Given the description of an element on the screen output the (x, y) to click on. 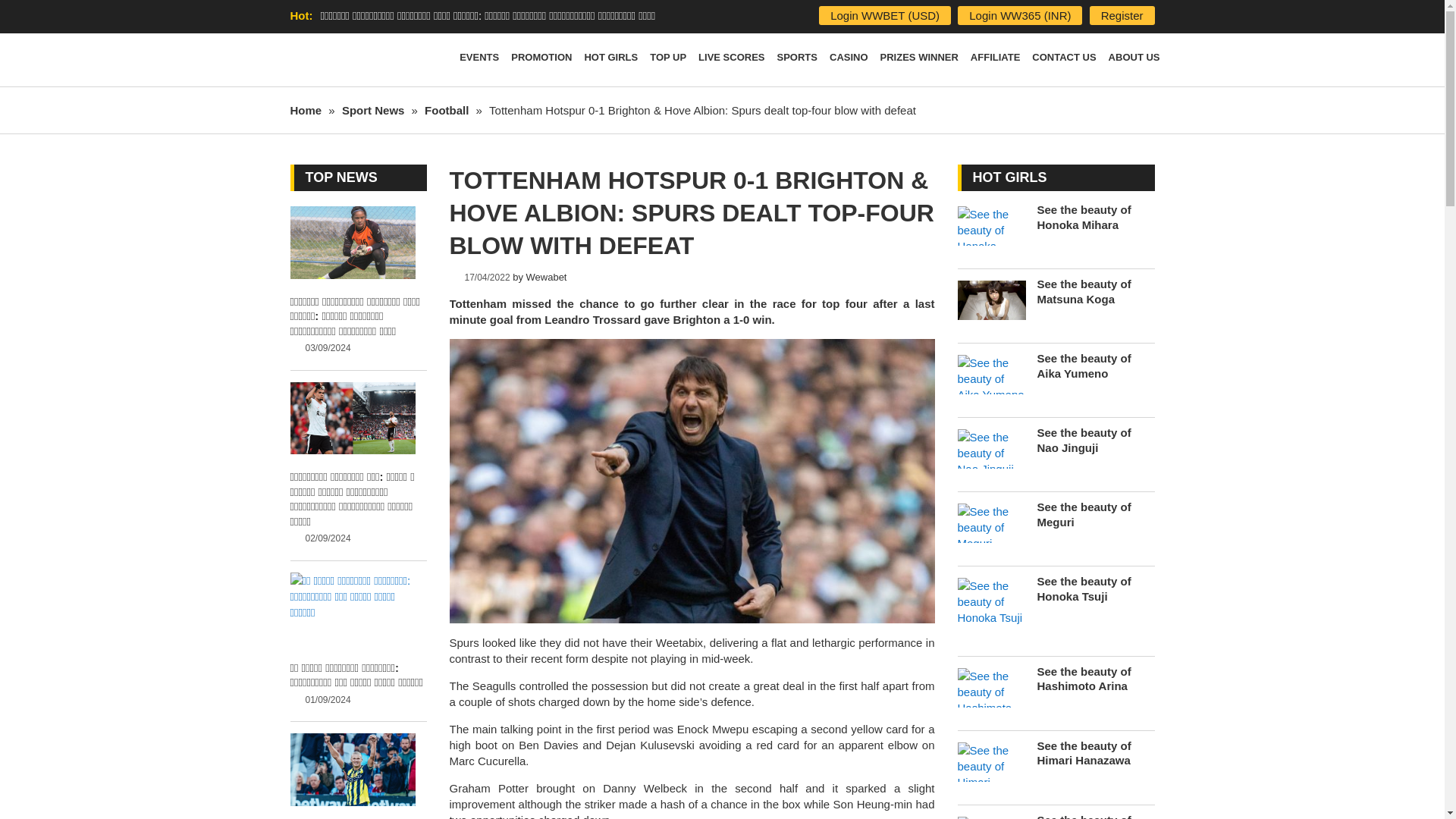
HOT GIRLS (610, 59)
PROMOTION (541, 59)
Register (1121, 15)
LIVE SCORES (731, 59)
